Given the description of an element on the screen output the (x, y) to click on. 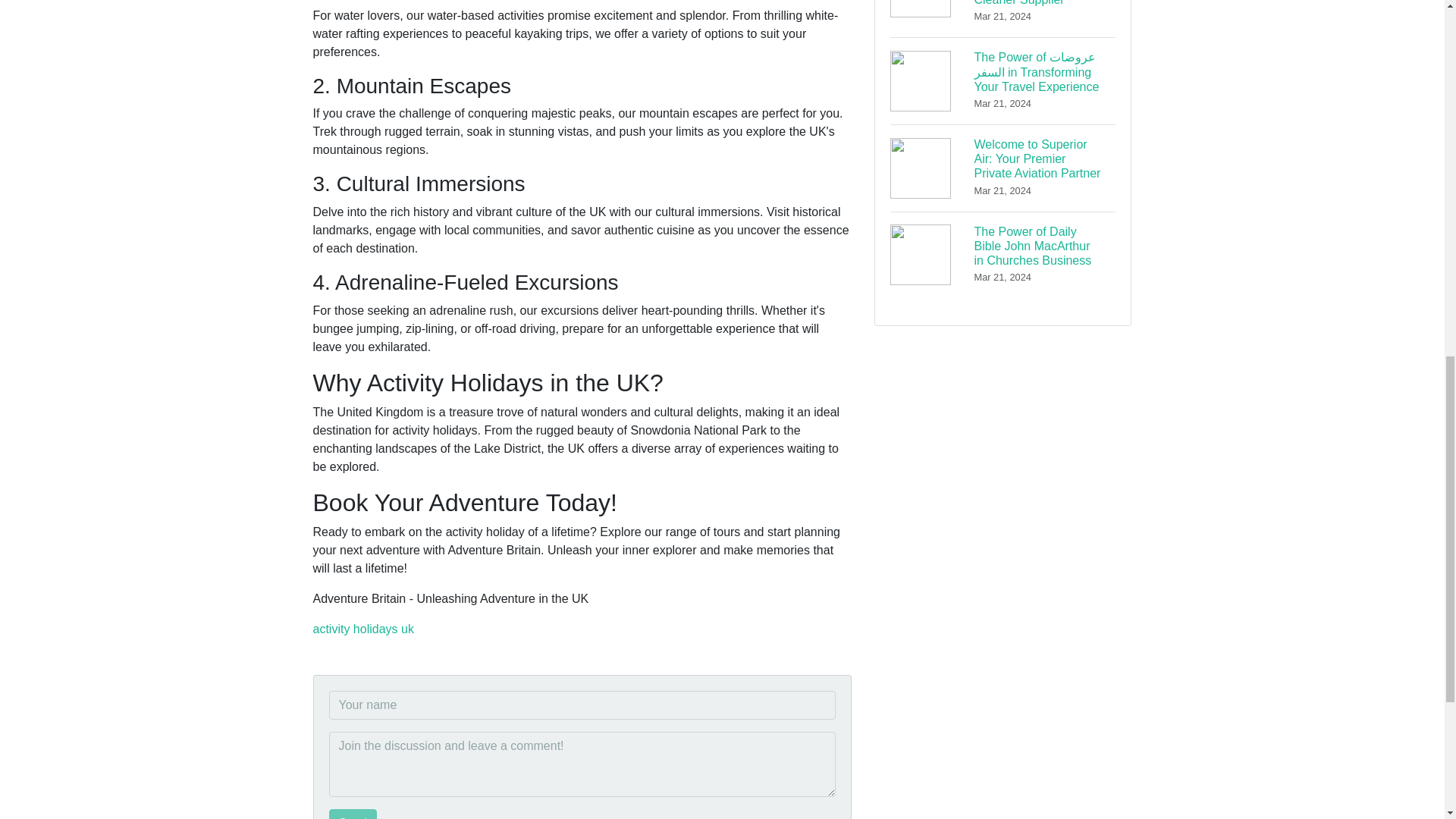
Send (353, 814)
Send (353, 814)
activity holidays uk (363, 628)
